Given the description of an element on the screen output the (x, y) to click on. 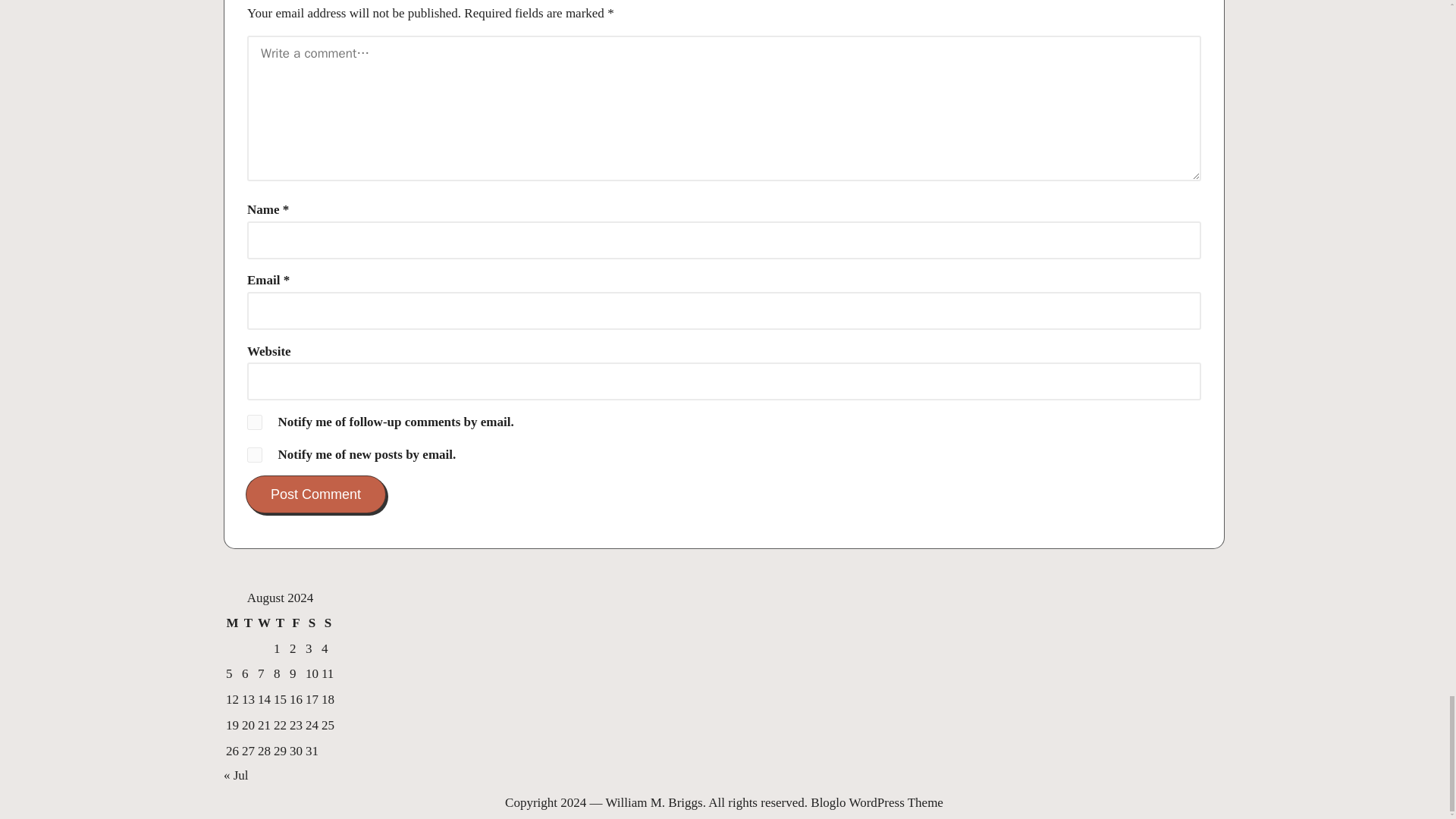
subscribe (254, 454)
subscribe (254, 421)
Post Comment (315, 494)
